Given the description of an element on the screen output the (x, y) to click on. 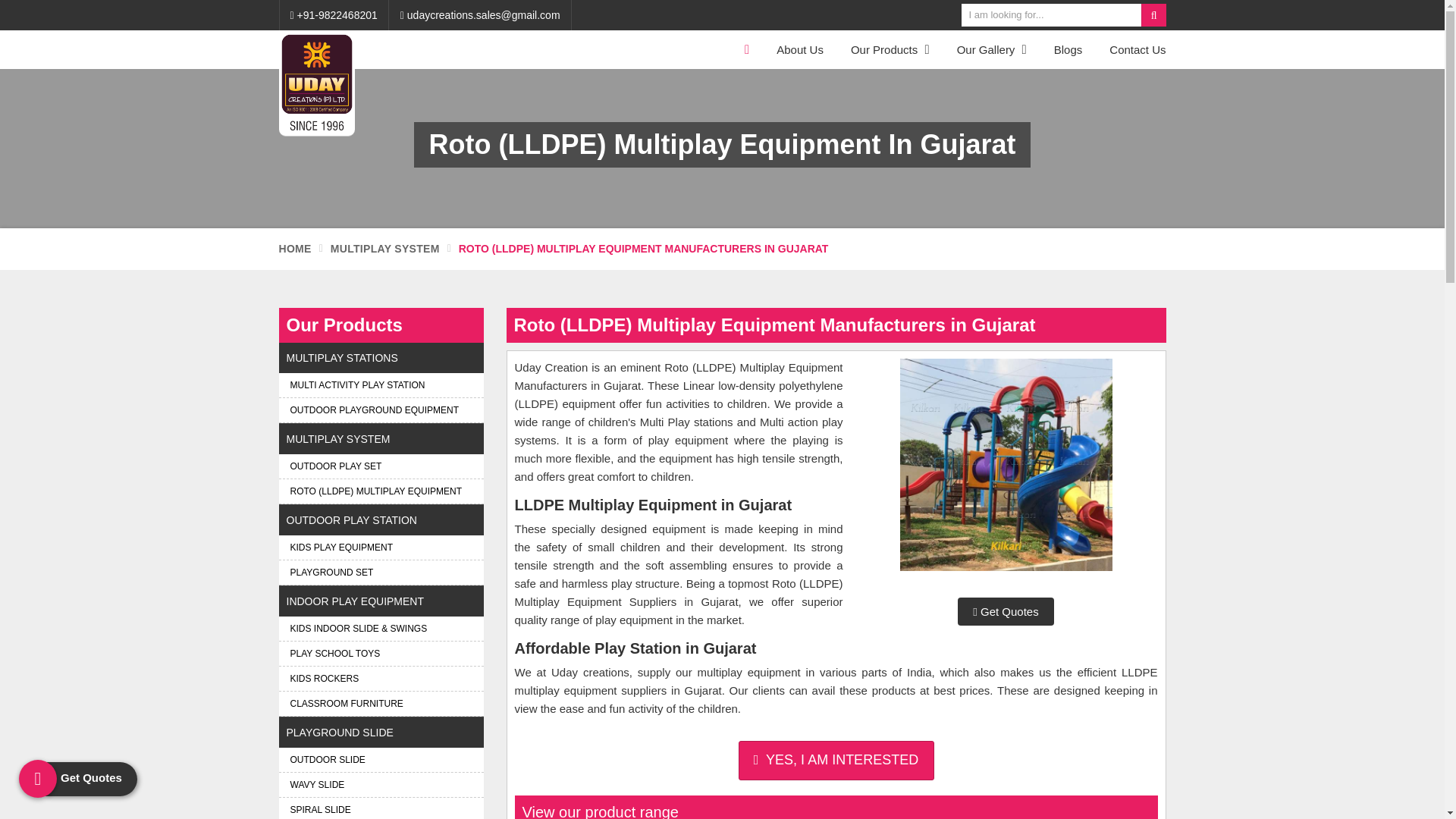
Our Products (890, 49)
Our Products (890, 49)
About Us (799, 49)
About Us (799, 49)
Call Us (333, 15)
Home (744, 49)
Mail Us (480, 15)
